Given the description of an element on the screen output the (x, y) to click on. 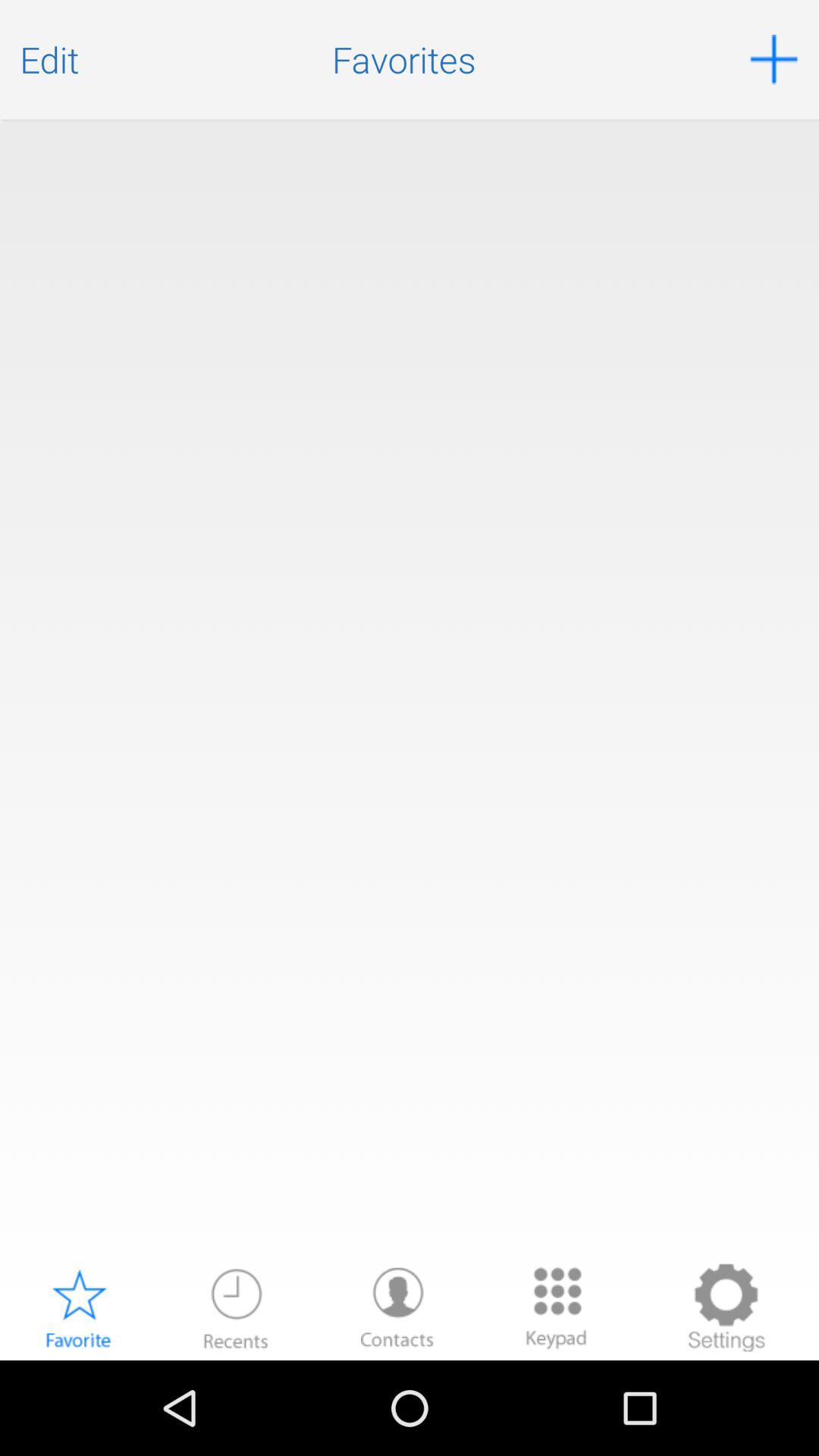
open item to the left of favorites (49, 59)
